Given the description of an element on the screen output the (x, y) to click on. 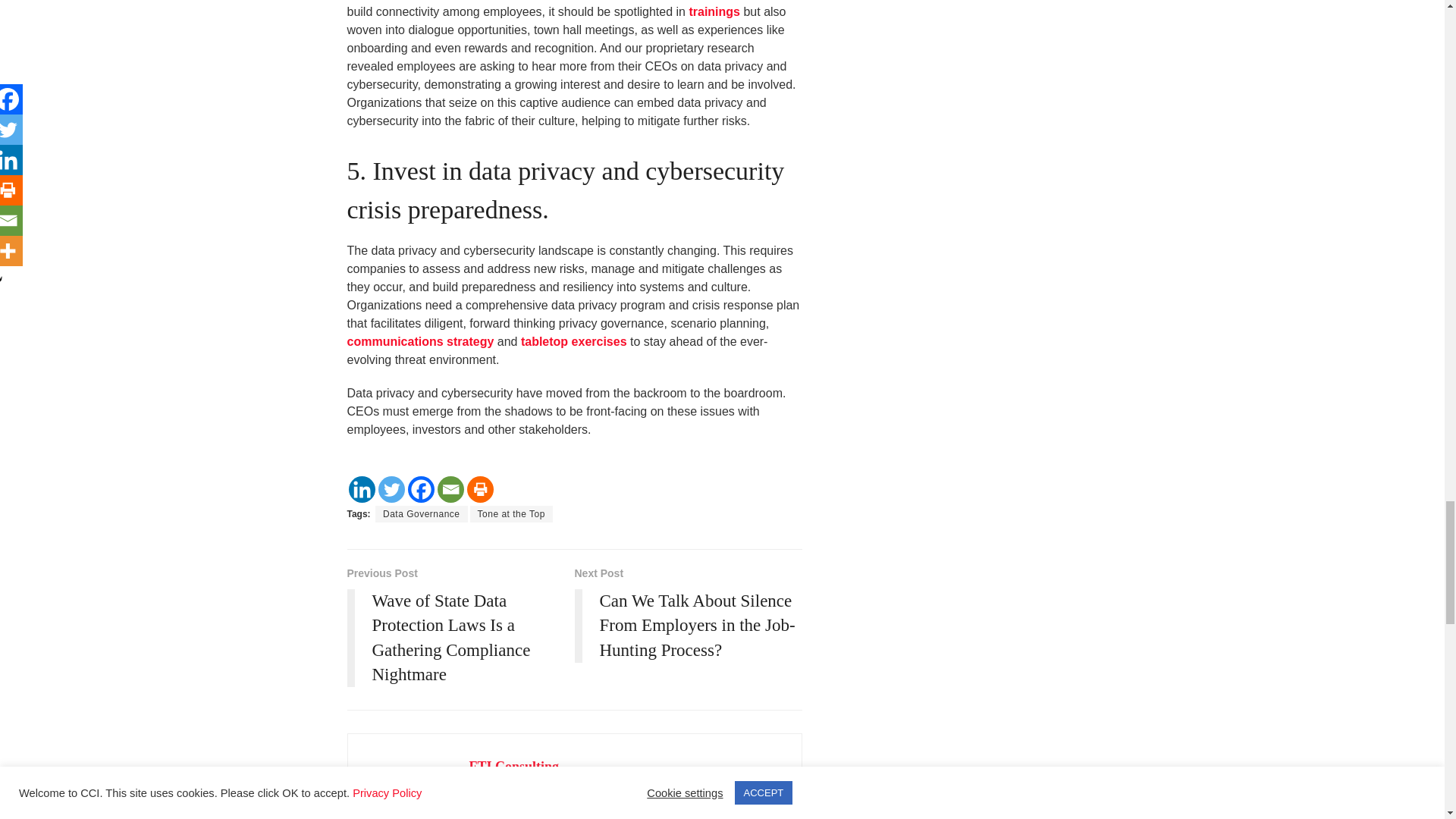
Email (449, 488)
Facebook (420, 488)
Twitter (390, 488)
Print (480, 488)
Linkedin (362, 488)
